Given the description of an element on the screen output the (x, y) to click on. 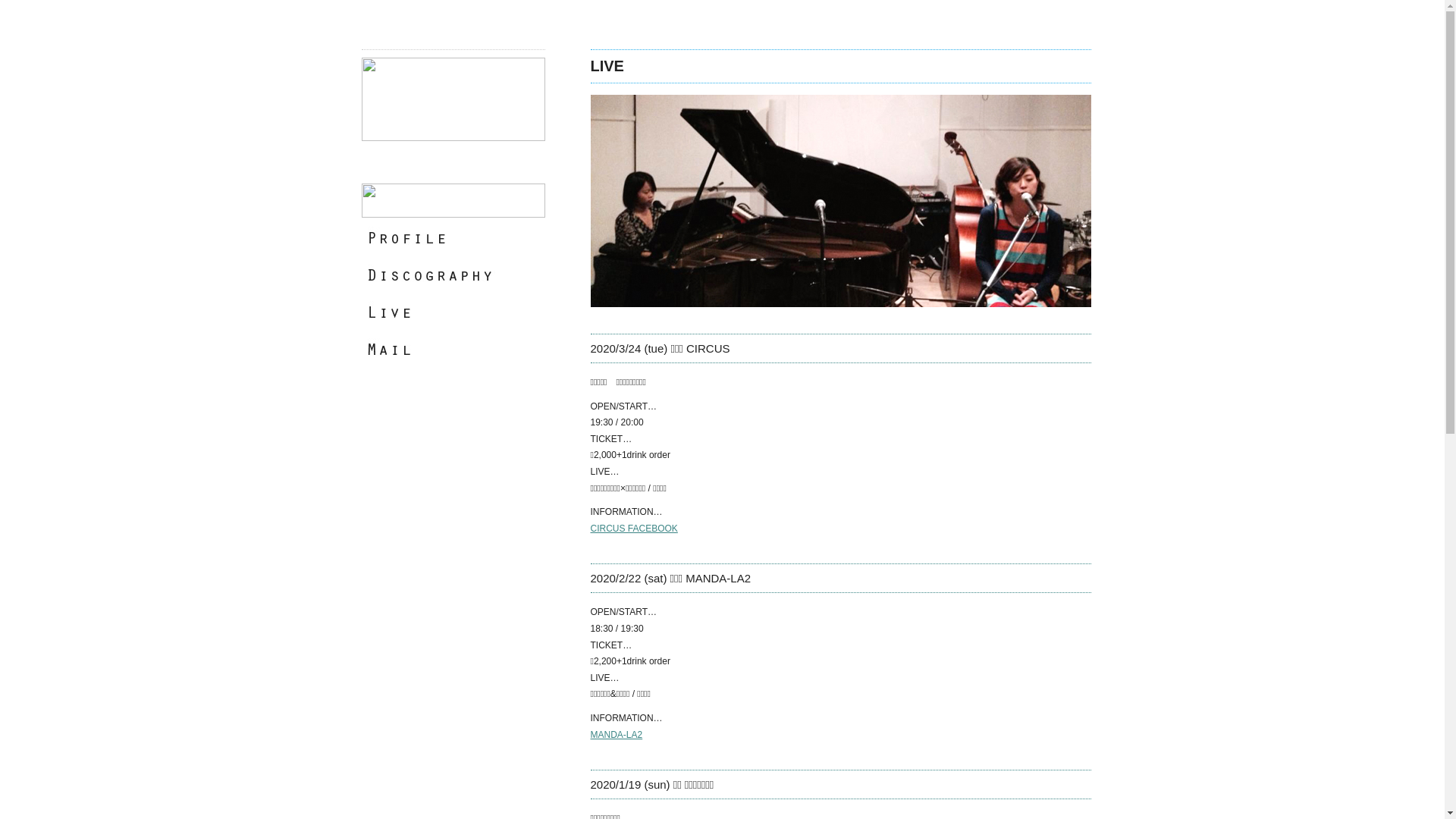
CIRCUS FACEBOOK Element type: text (633, 528)
MANDA-LA2 Element type: text (615, 734)
